Given the description of an element on the screen output the (x, y) to click on. 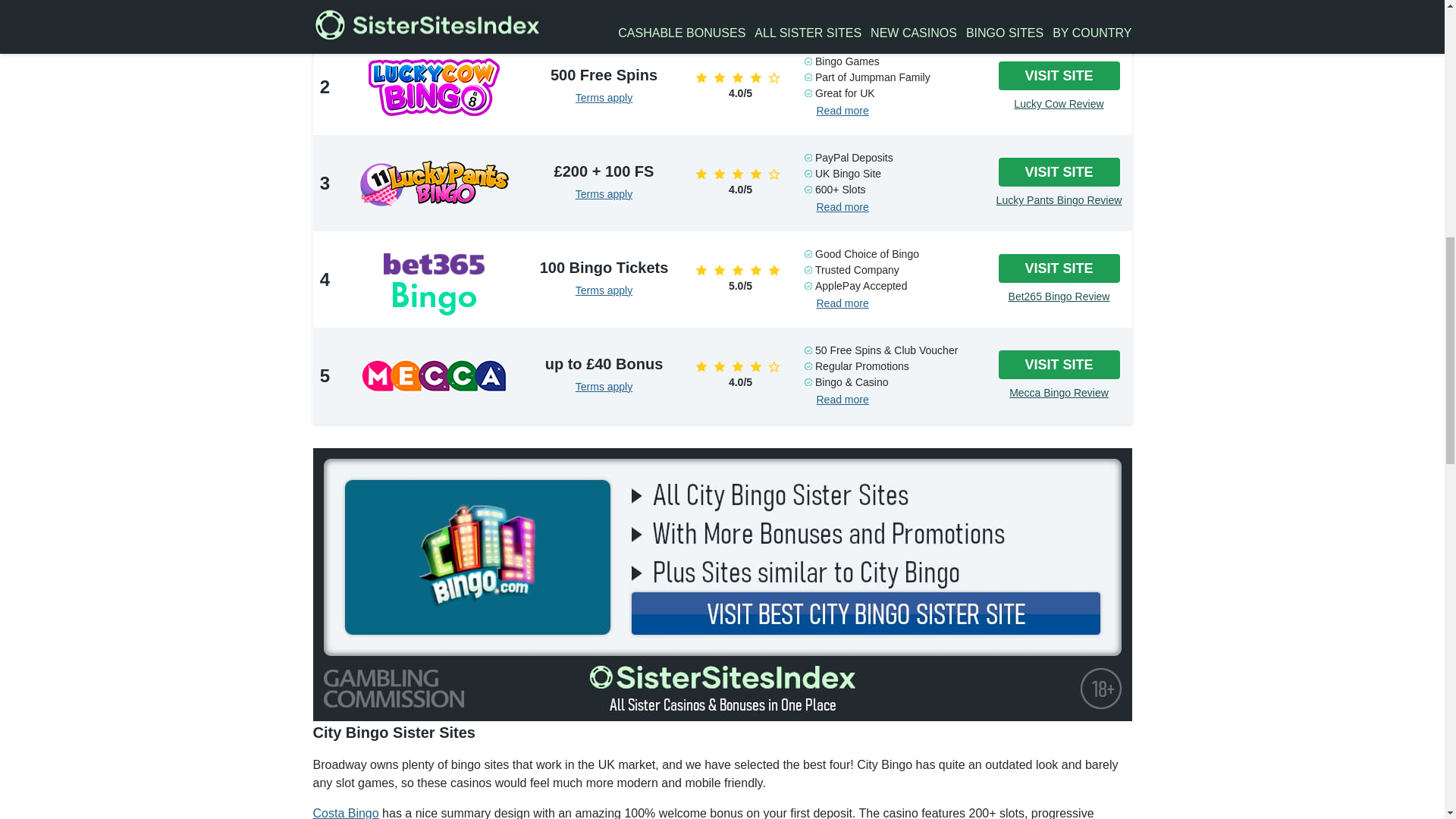
Kitty Bingo Review (1058, 10)
VISIT SITE (1058, 172)
VISIT SITE (1058, 75)
Terms apply (603, 96)
Lucky Pants Bingo Review (1058, 200)
Read more (841, 110)
Terms apply (603, 3)
Terms apply (603, 193)
Read more (841, 14)
Lucky Cow Review (1058, 104)
Read more (841, 206)
